Given the description of an element on the screen output the (x, y) to click on. 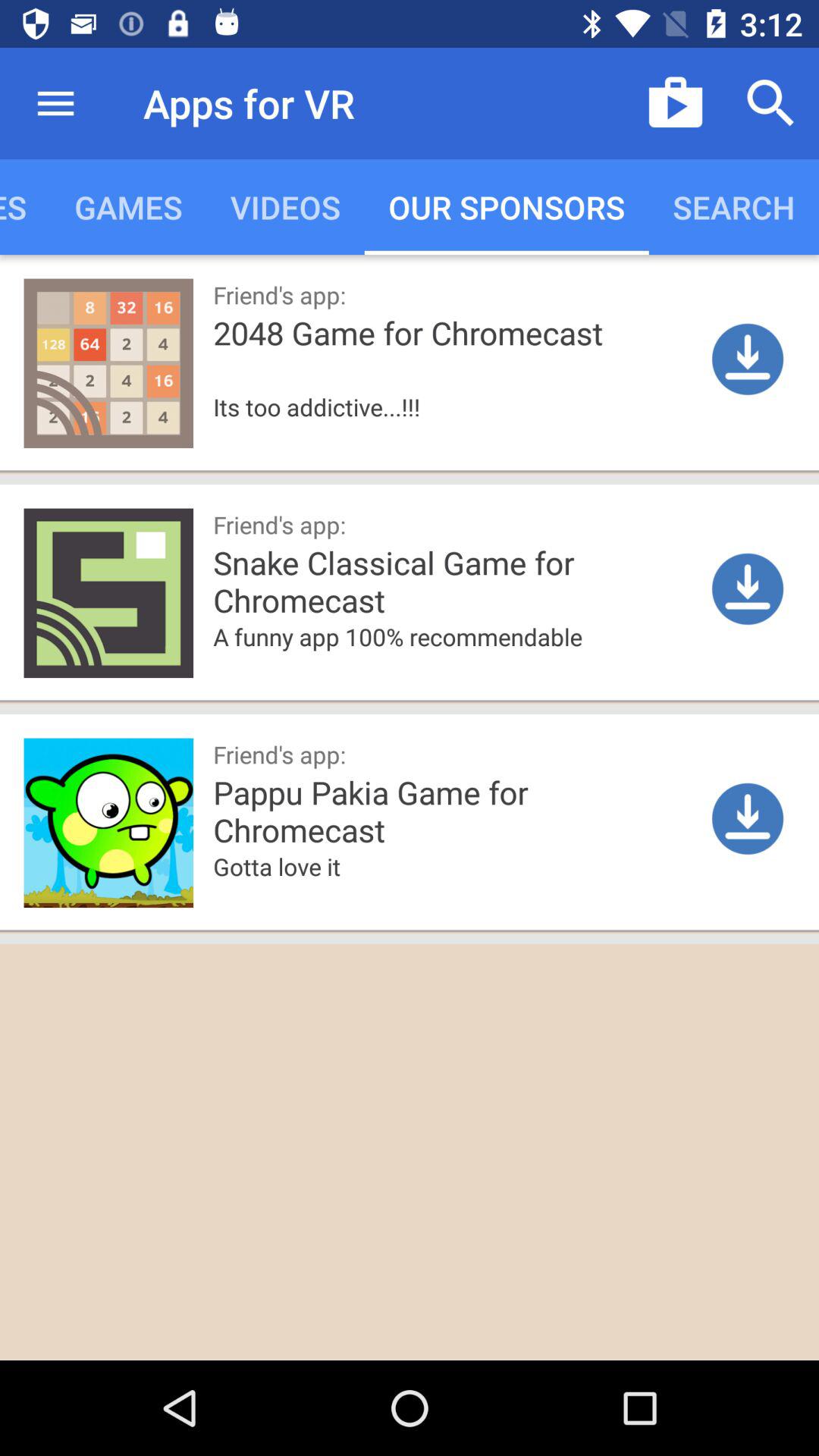
turn off icon above friend's app: item (457, 660)
